Given the description of an element on the screen output the (x, y) to click on. 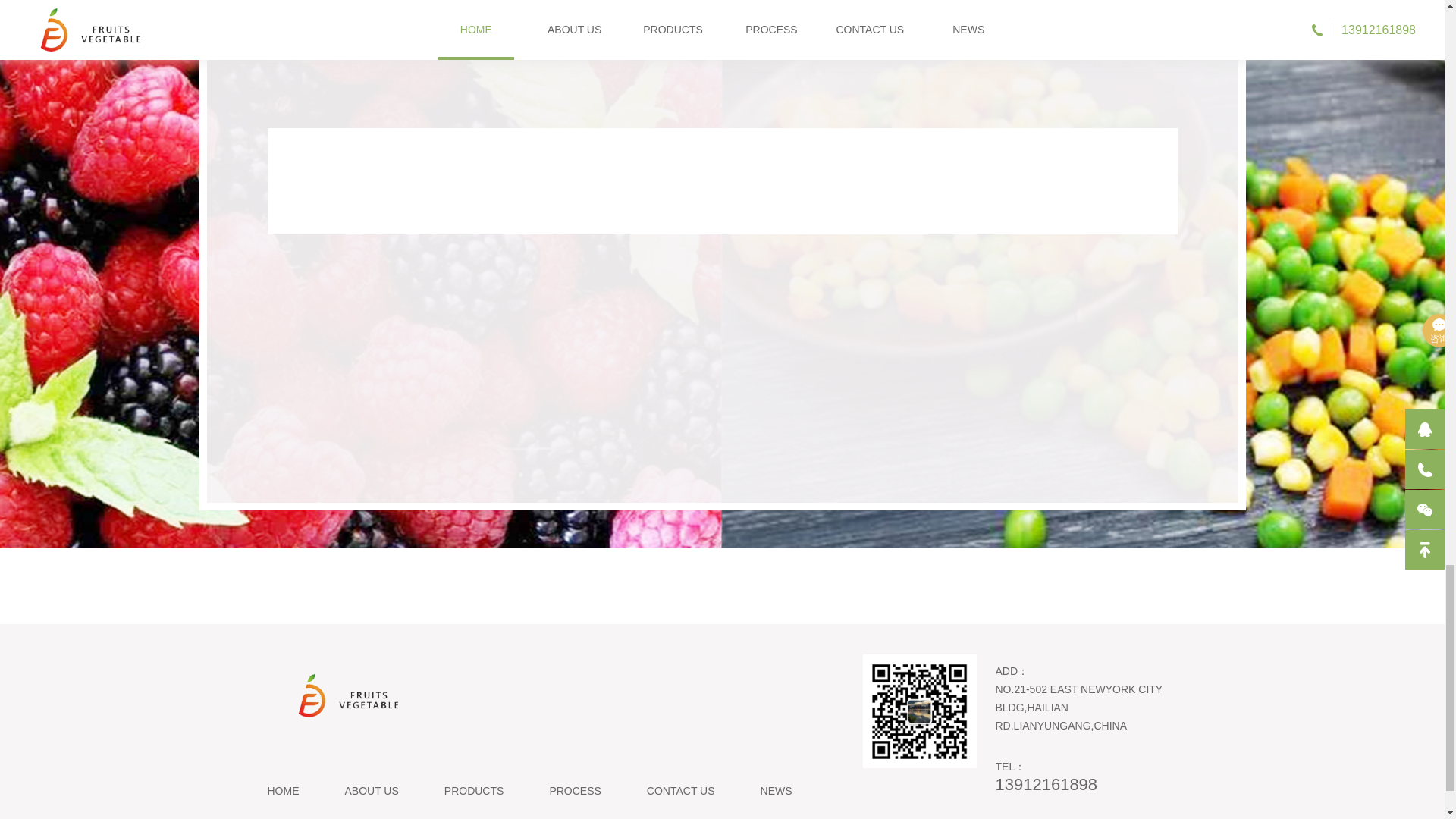
PROCESS (573, 790)
CONTACT US (680, 790)
HOME (282, 790)
PRODUCTS (473, 790)
ABOUT US (370, 790)
